Given the description of an element on the screen output the (x, y) to click on. 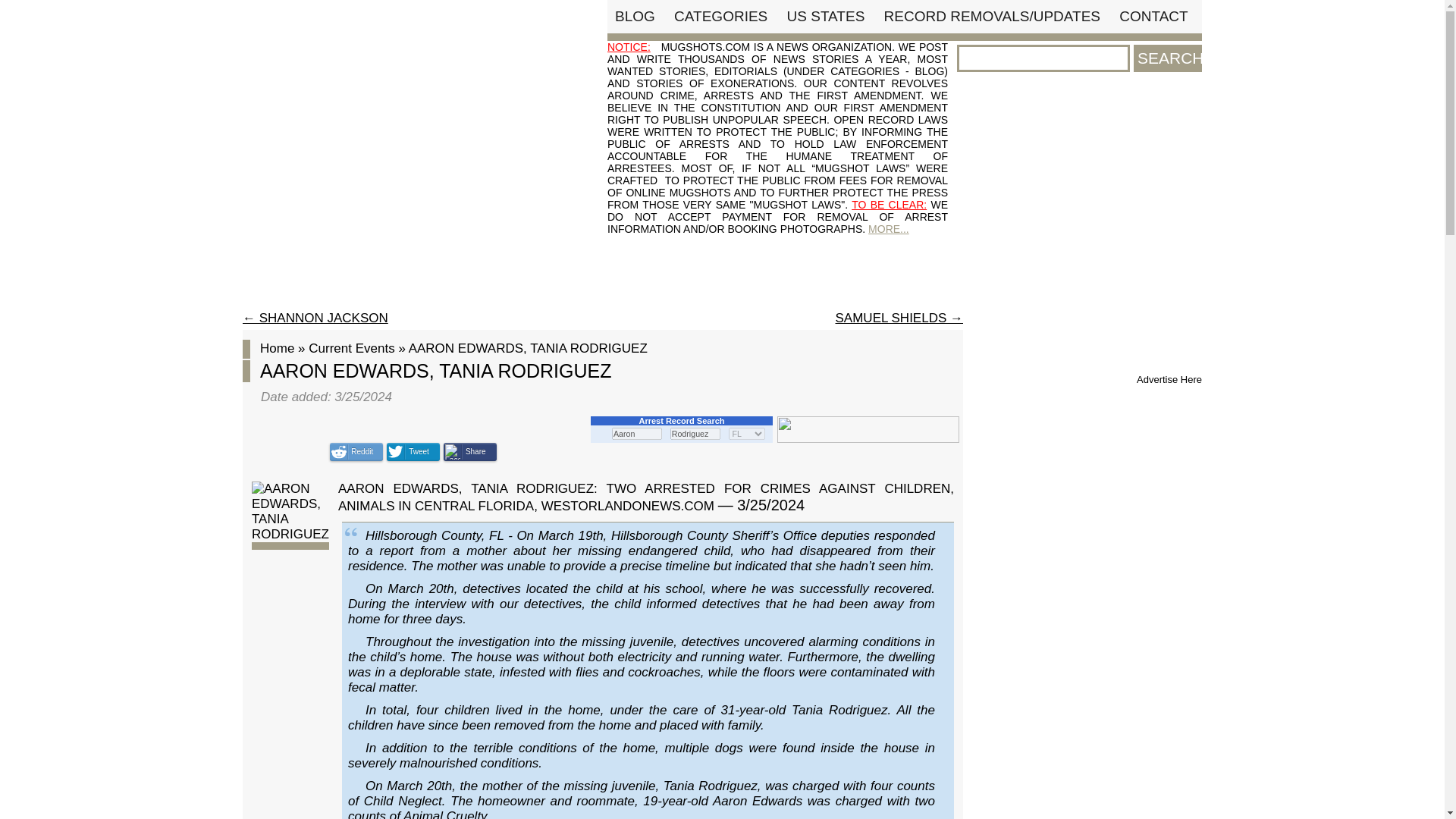
Reddit (356, 452)
Click to view SHANNON JACKSON Mugshot or Arrest Information (315, 318)
MORE... (887, 228)
Tweet (413, 452)
Aaron (636, 433)
Click to view SAMUEL SHIELDS  Mugshot or Arrest Information (898, 318)
CATEGORIES (720, 16)
Share (470, 452)
Current Events (351, 348)
Advertise Here (1169, 378)
